Given the description of an element on the screen output the (x, y) to click on. 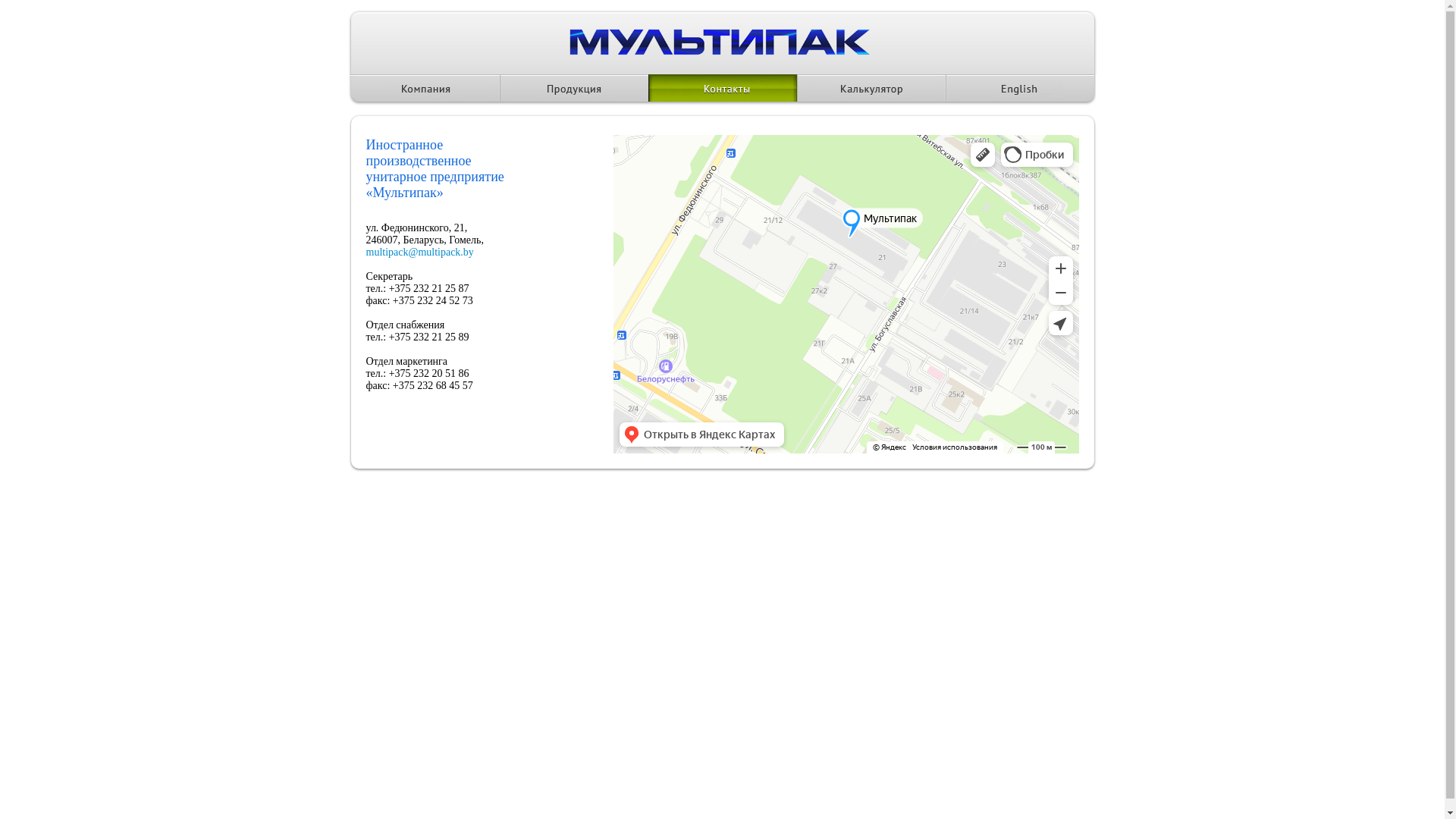
multipack@multipack.by Element type: text (419, 251)
english Element type: text (1019, 90)
